Given the description of an element on the screen output the (x, y) to click on. 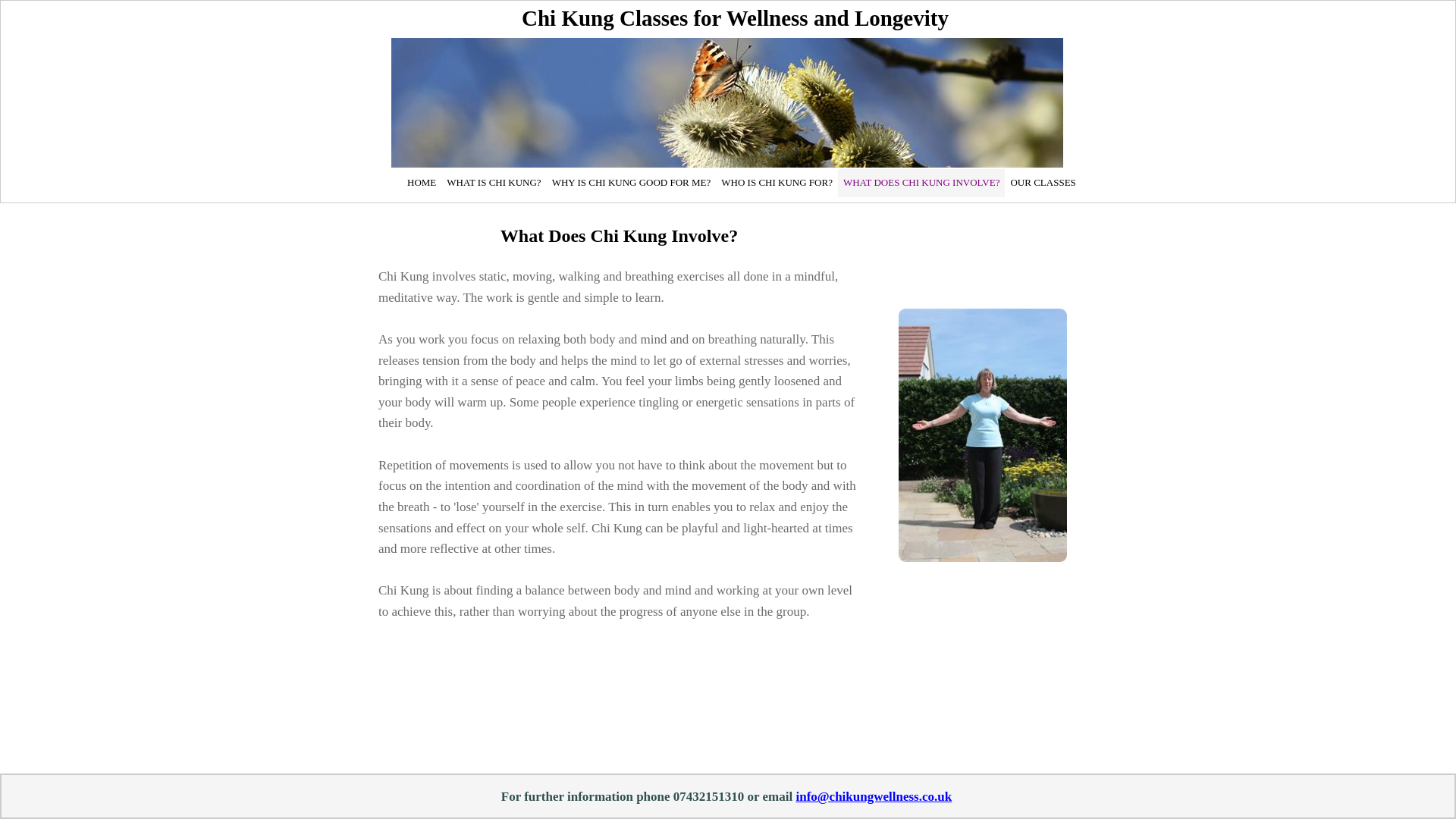
WHY IS CHI KUNG GOOD FOR ME? (631, 182)
OUR CLASSES (1042, 182)
HOME (421, 182)
WHO IS CHI KUNG FOR? (777, 182)
WHAT DOES CHI KUNG INVOLVE? (922, 182)
WHAT IS CHI KUNG? (493, 182)
